Given the description of an element on the screen output the (x, y) to click on. 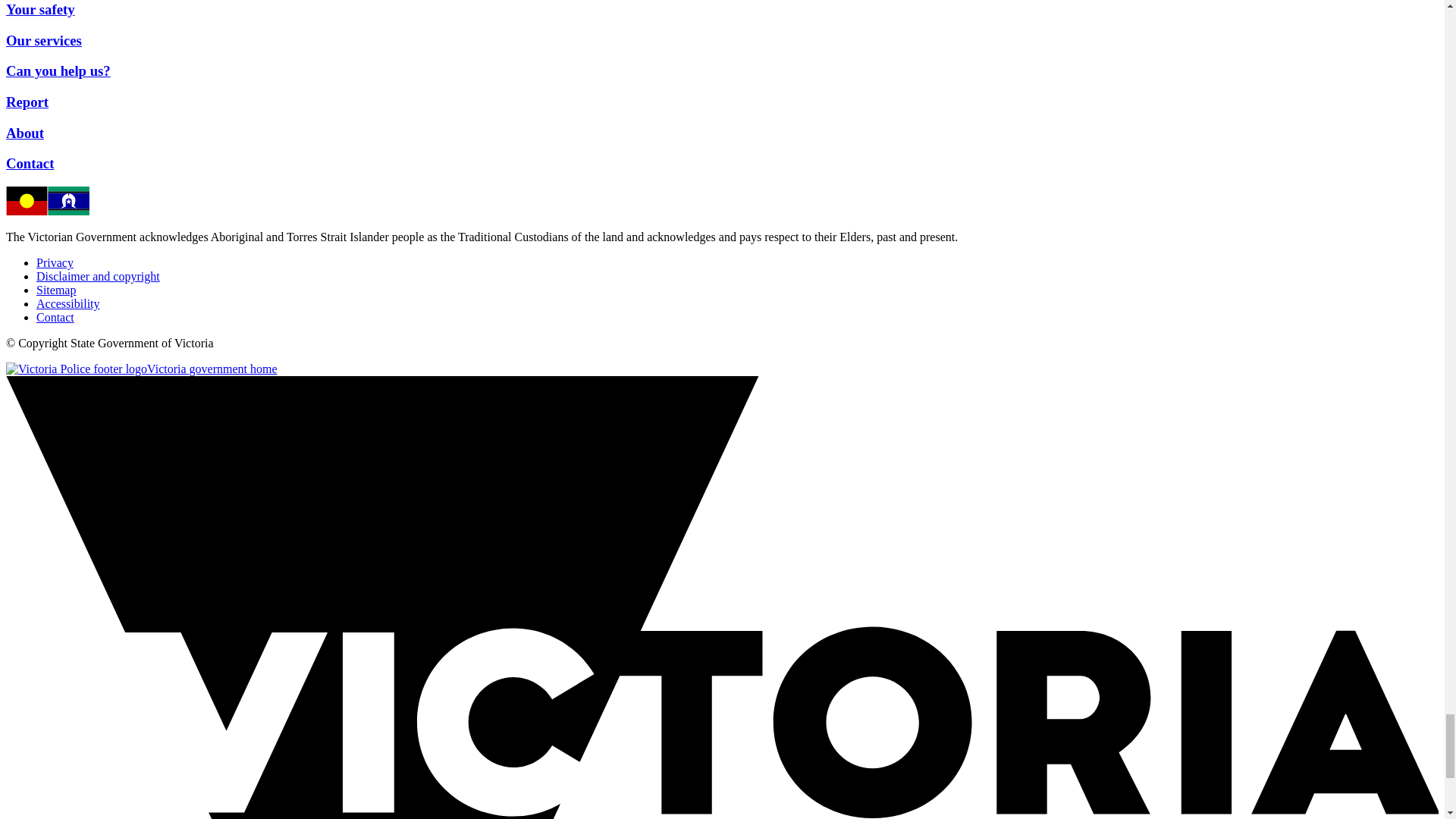
Disclaimer and copyright (98, 276)
Your safety (40, 9)
Can you help us? (57, 70)
About (24, 132)
Sitemap (55, 289)
Accessibility (68, 303)
Our services (43, 40)
Report (26, 101)
Contact (29, 163)
Contact (55, 317)
